Given the description of an element on the screen output the (x, y) to click on. 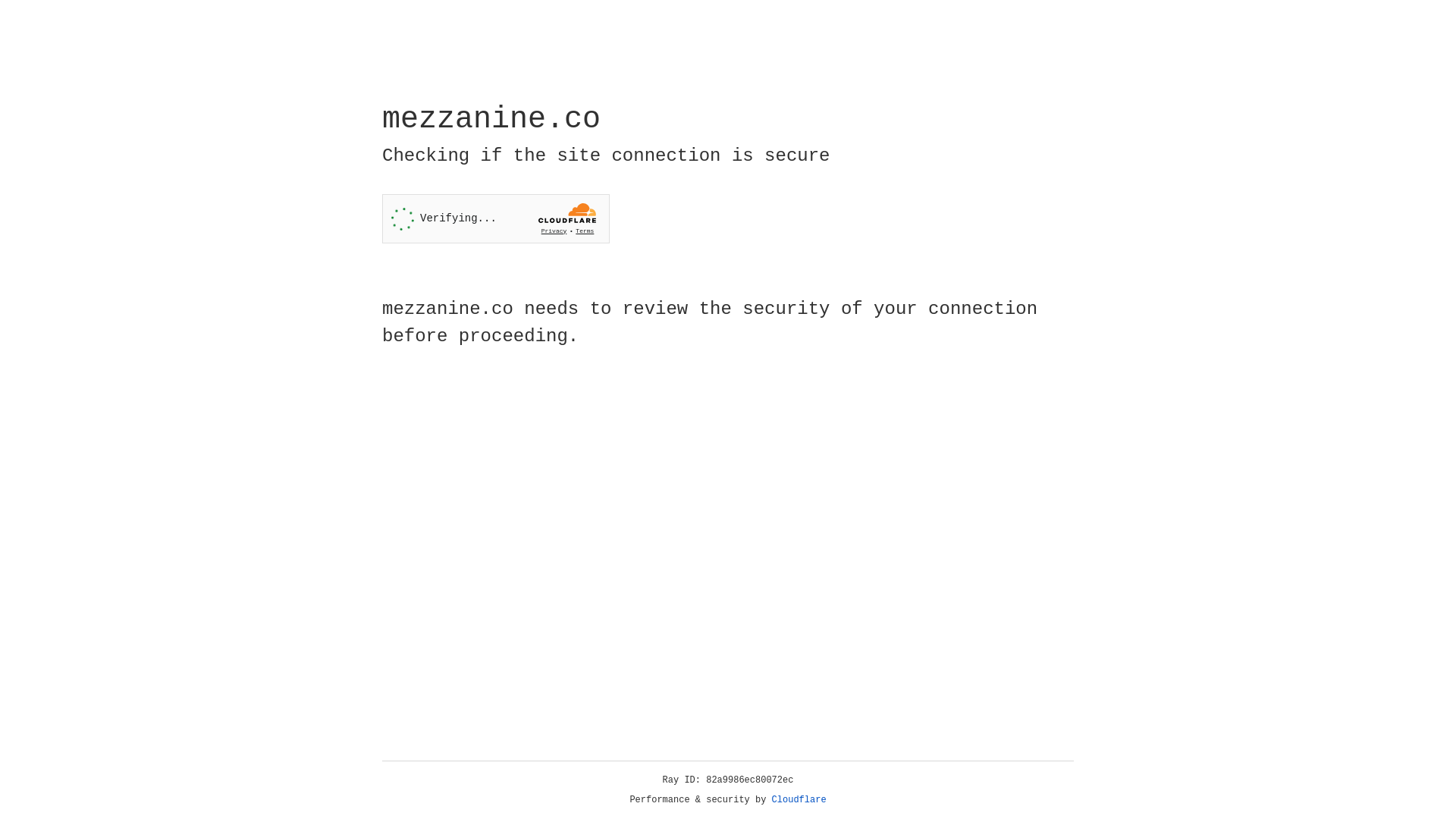
Widget containing a Cloudflare security challenge Element type: hover (495, 218)
Cloudflare Element type: text (798, 799)
